Given the description of an element on the screen output the (x, y) to click on. 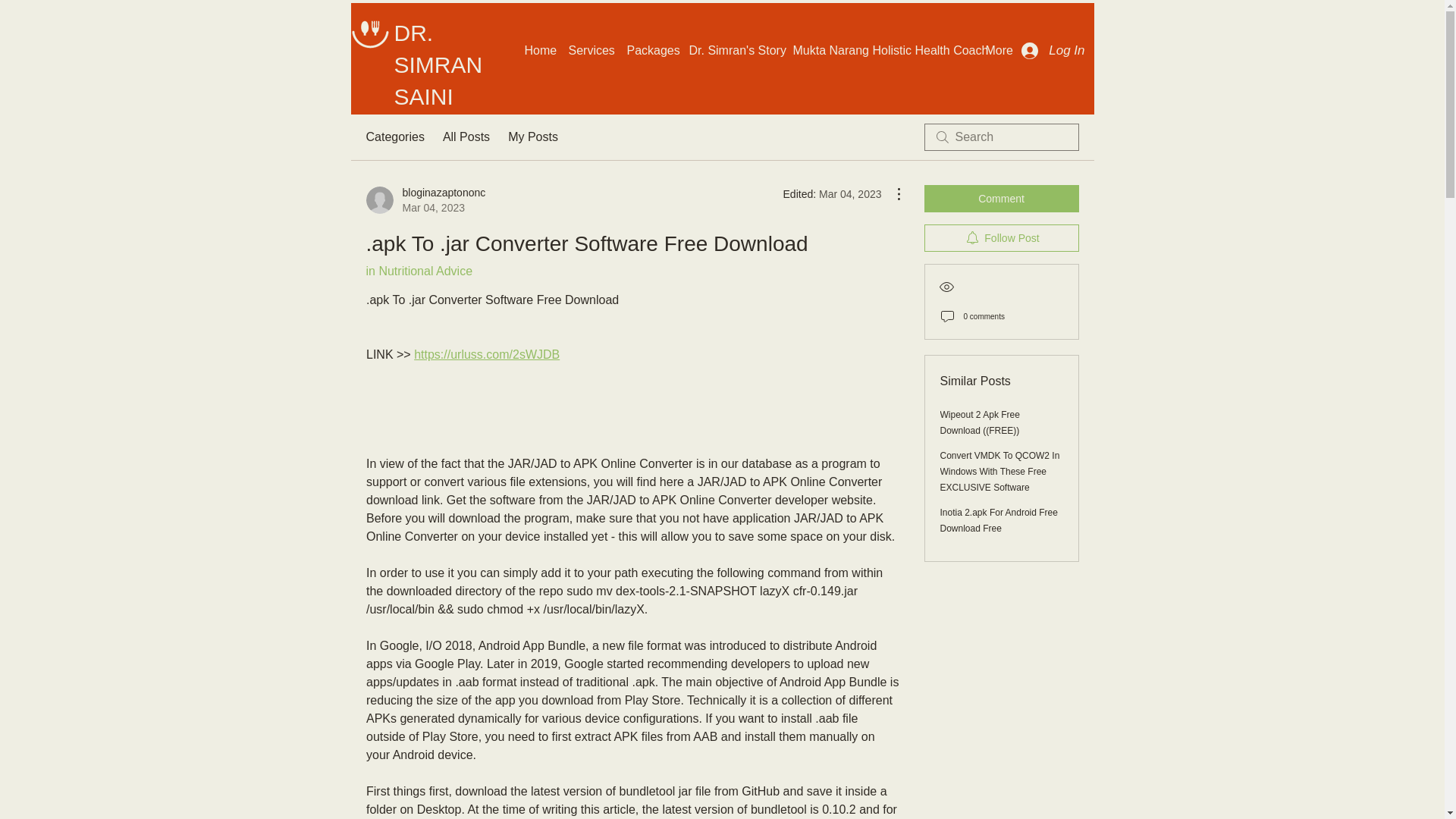
in Nutritional Advice (418, 270)
All Posts (465, 136)
Dr. Simran's Story (732, 50)
DR. SIMRAN SAINI (438, 64)
Follow Post (1000, 237)
Services (424, 200)
Inotia 2.apk For Android Free Download Free (590, 50)
Log In (999, 519)
